Given the description of an element on the screen output the (x, y) to click on. 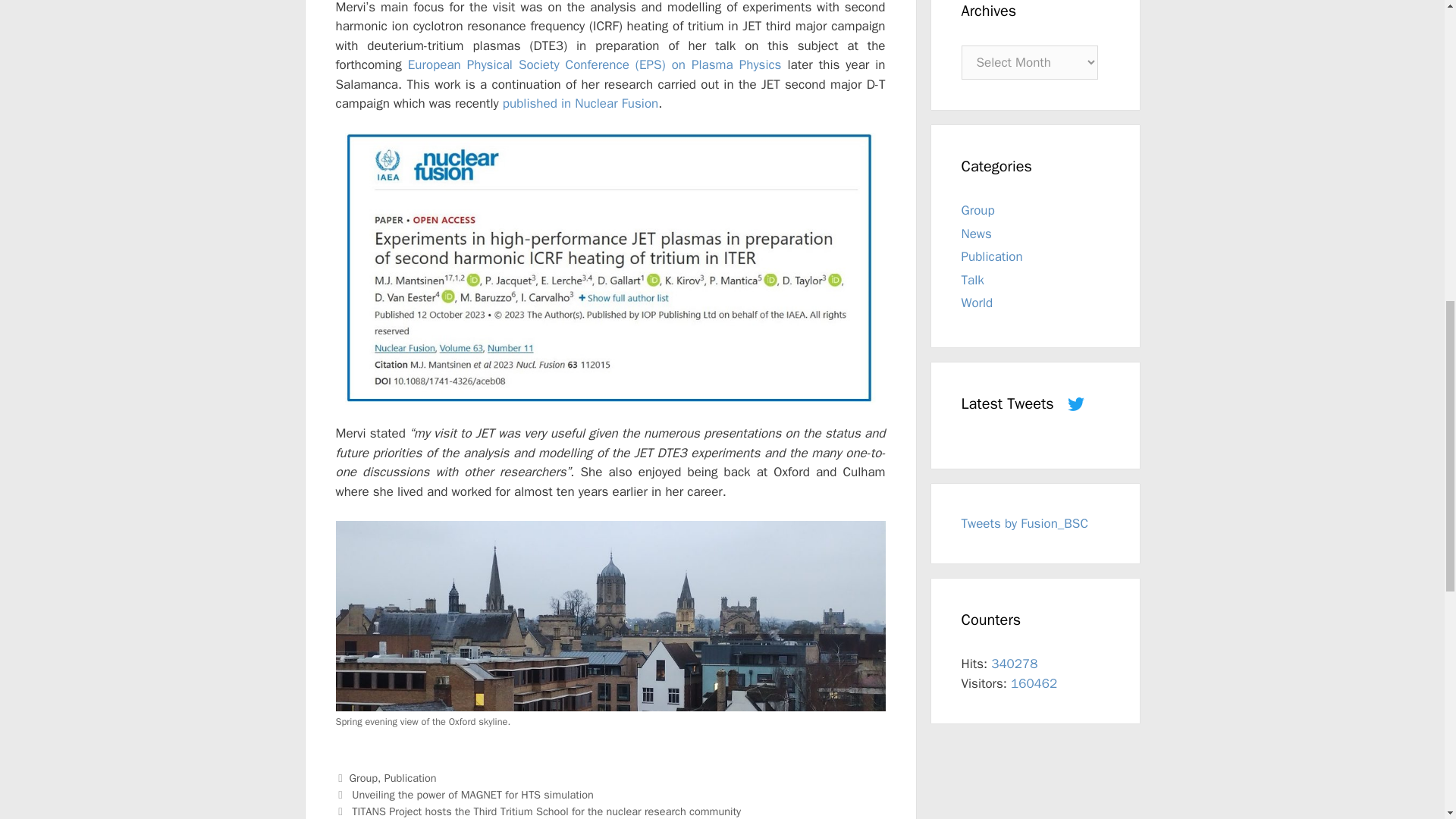
published in Nuclear Fusion (580, 103)
Group (363, 777)
Scroll back to top (1406, 720)
Unveiling the power of MAGNET for HTS simulation (473, 794)
Publication (410, 777)
